Given the description of an element on the screen output the (x, y) to click on. 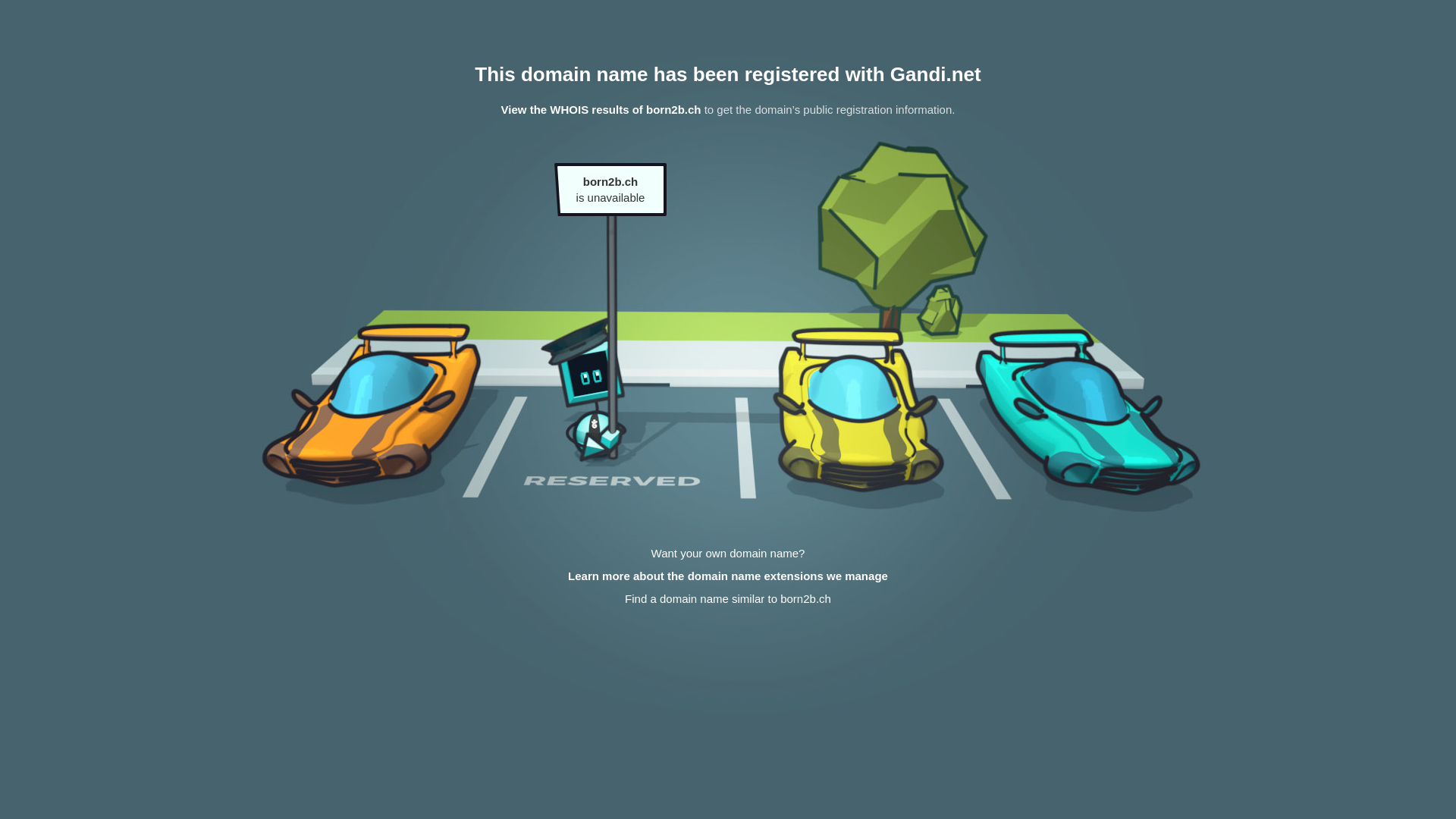
View the WHOIS results of born2b.ch Element type: text (601, 109)
Learn more about the domain name extensions we manage Element type: text (727, 575)
Find a domain name similar to born2b.ch Element type: text (727, 598)
